Given the description of an element on the screen output the (x, y) to click on. 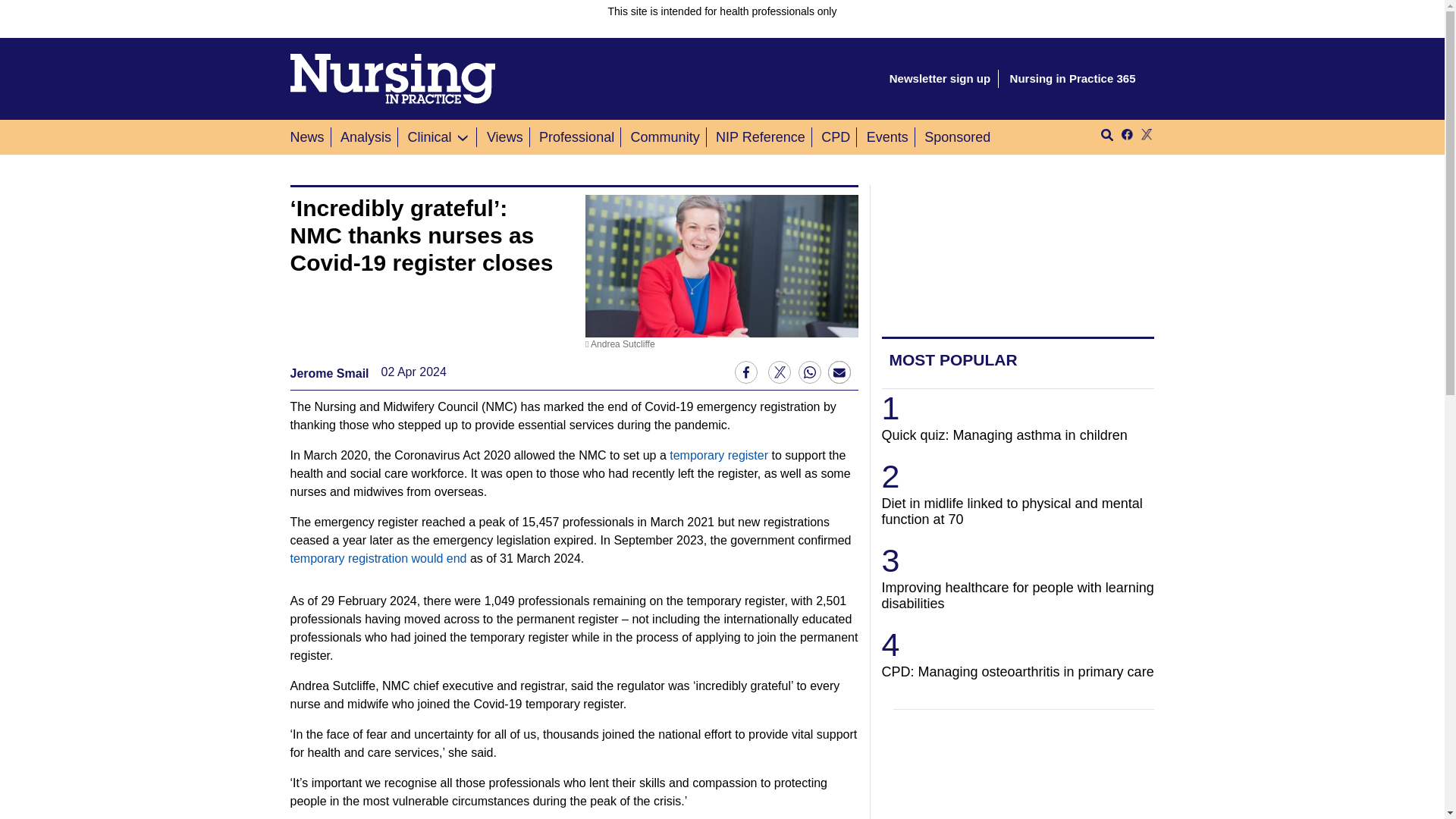
Nursing in Practice 365 (1072, 78)
Clinical (429, 136)
Newsletter sign up (939, 78)
News (309, 136)
Analysis (365, 136)
